Given the description of an element on the screen output the (x, y) to click on. 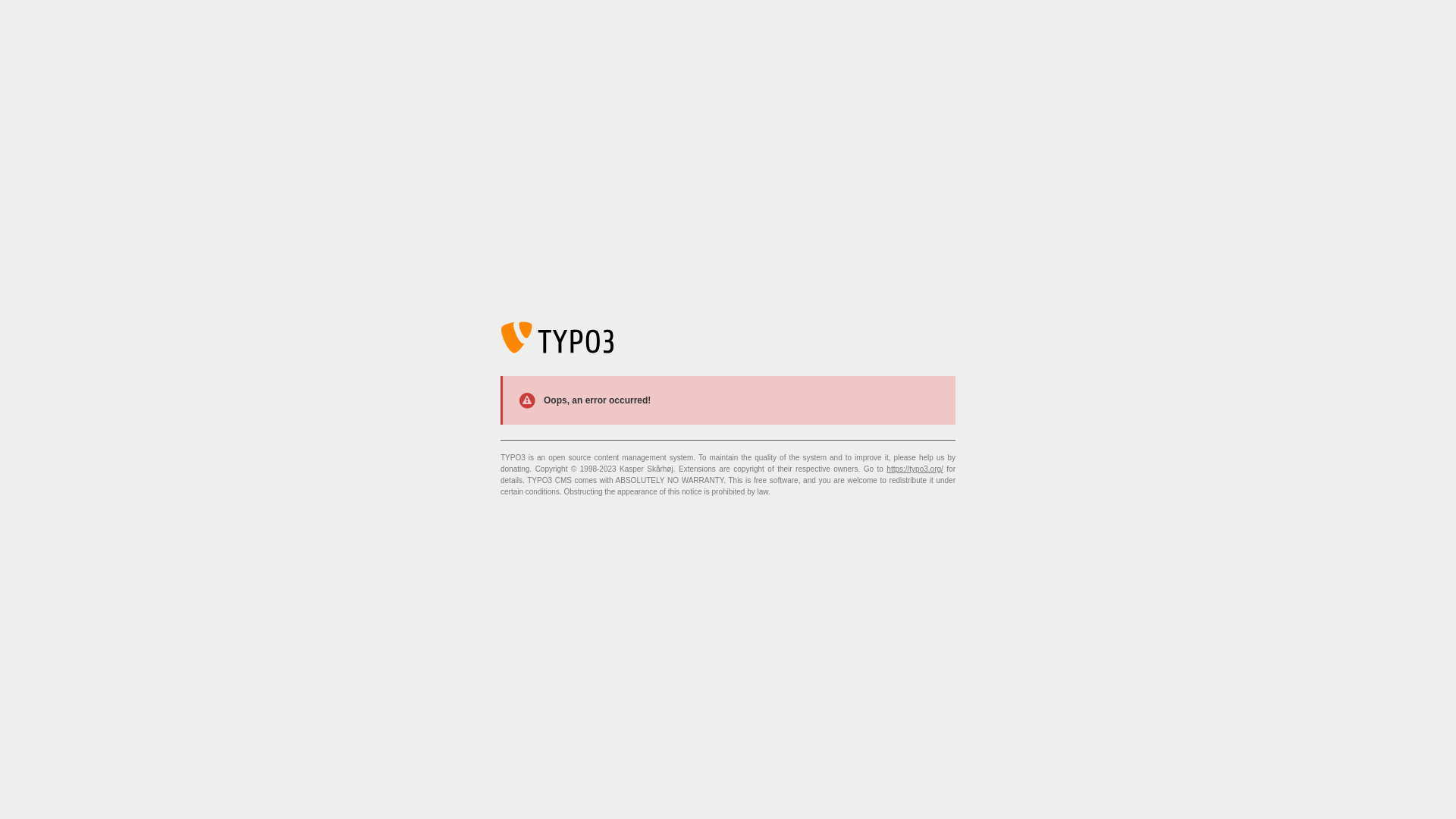
https://typo3.org/ Element type: text (914, 468)
